Given the description of an element on the screen output the (x, y) to click on. 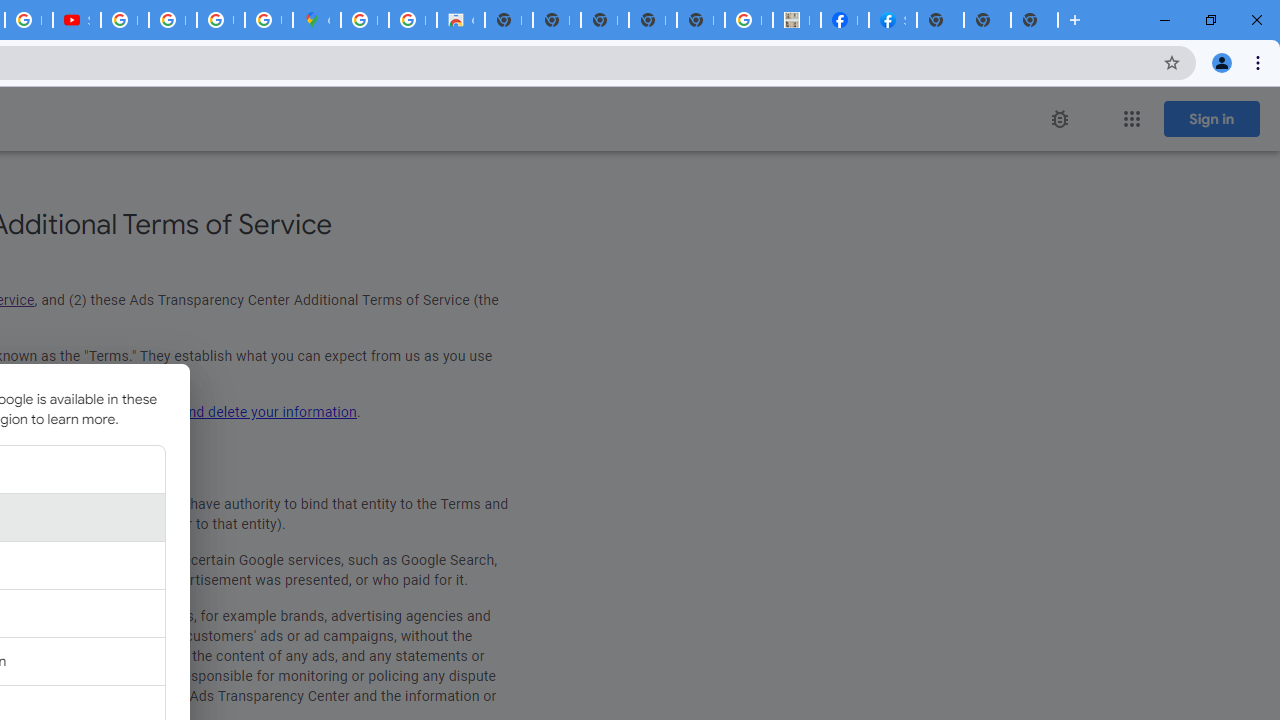
Sign Up for Facebook (892, 20)
Miley Cyrus | Facebook (844, 20)
To get missing image descriptions, open the context menu. (1059, 119)
How Chrome protects your passwords - Google Chrome Help (124, 20)
New Tab (939, 20)
MILEY CYRUS. (796, 20)
Google Maps (316, 20)
New Tab (1034, 20)
Subscriptions - YouTube (76, 20)
